Given the description of an element on the screen output the (x, y) to click on. 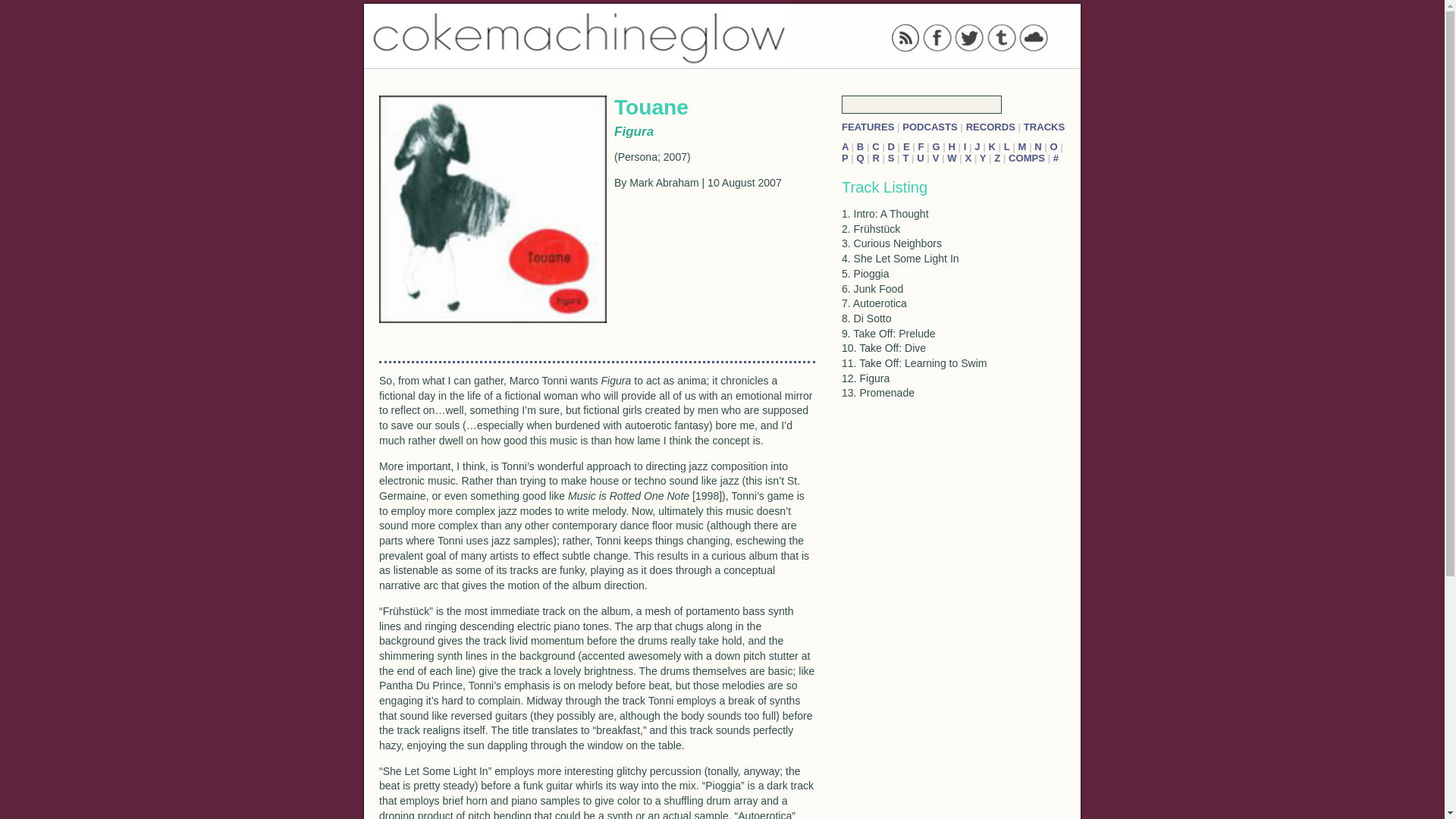
PODCASTS (930, 126)
FEATURES (867, 126)
COMPS (1027, 157)
RECORDS (990, 126)
TRACKS (1043, 126)
